Given the description of an element on the screen output the (x, y) to click on. 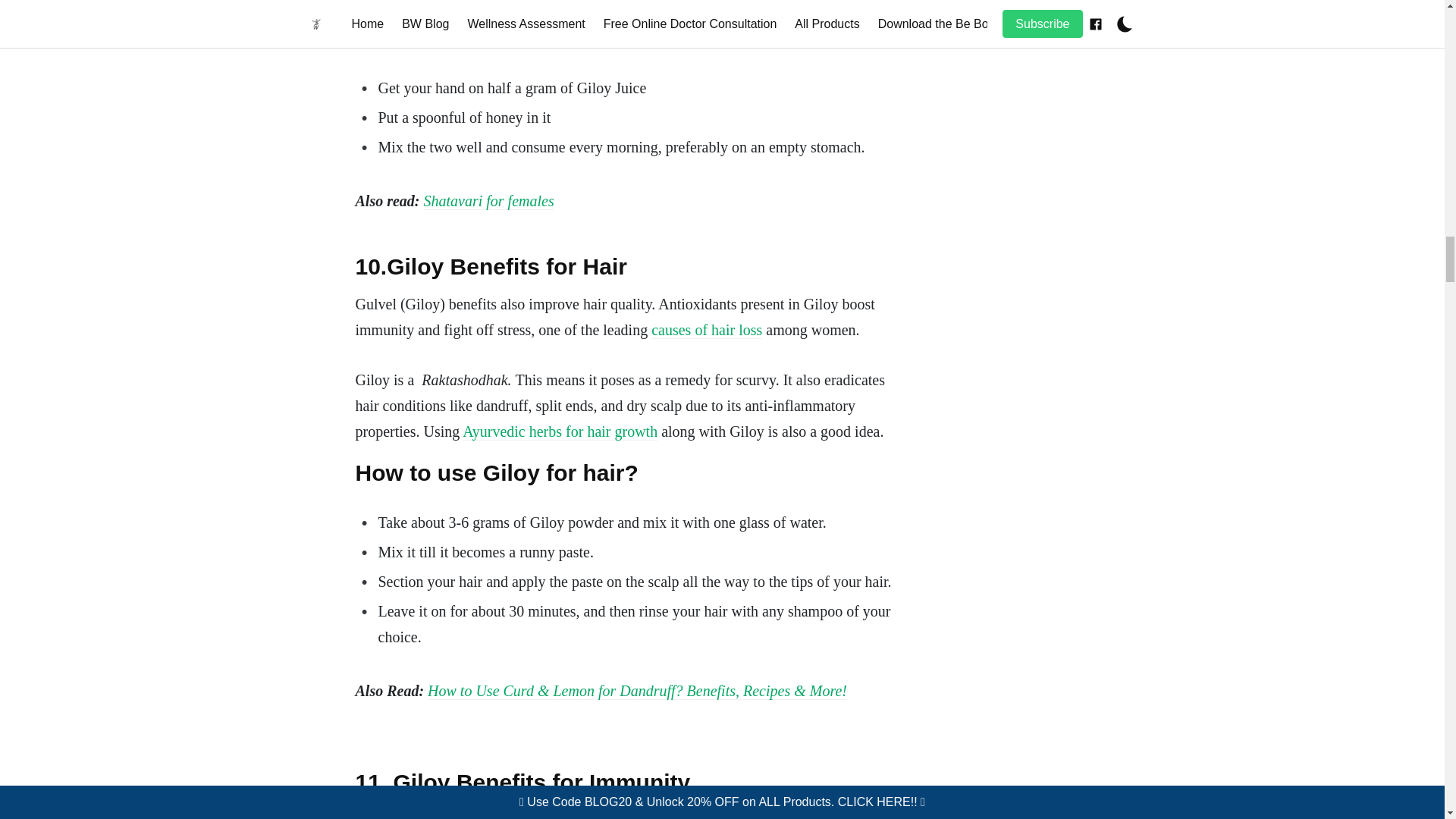
causes of hair loss (705, 330)
Shatavari for females (488, 200)
Ayurvedic herbs for hair growth (560, 431)
